Given the description of an element on the screen output the (x, y) to click on. 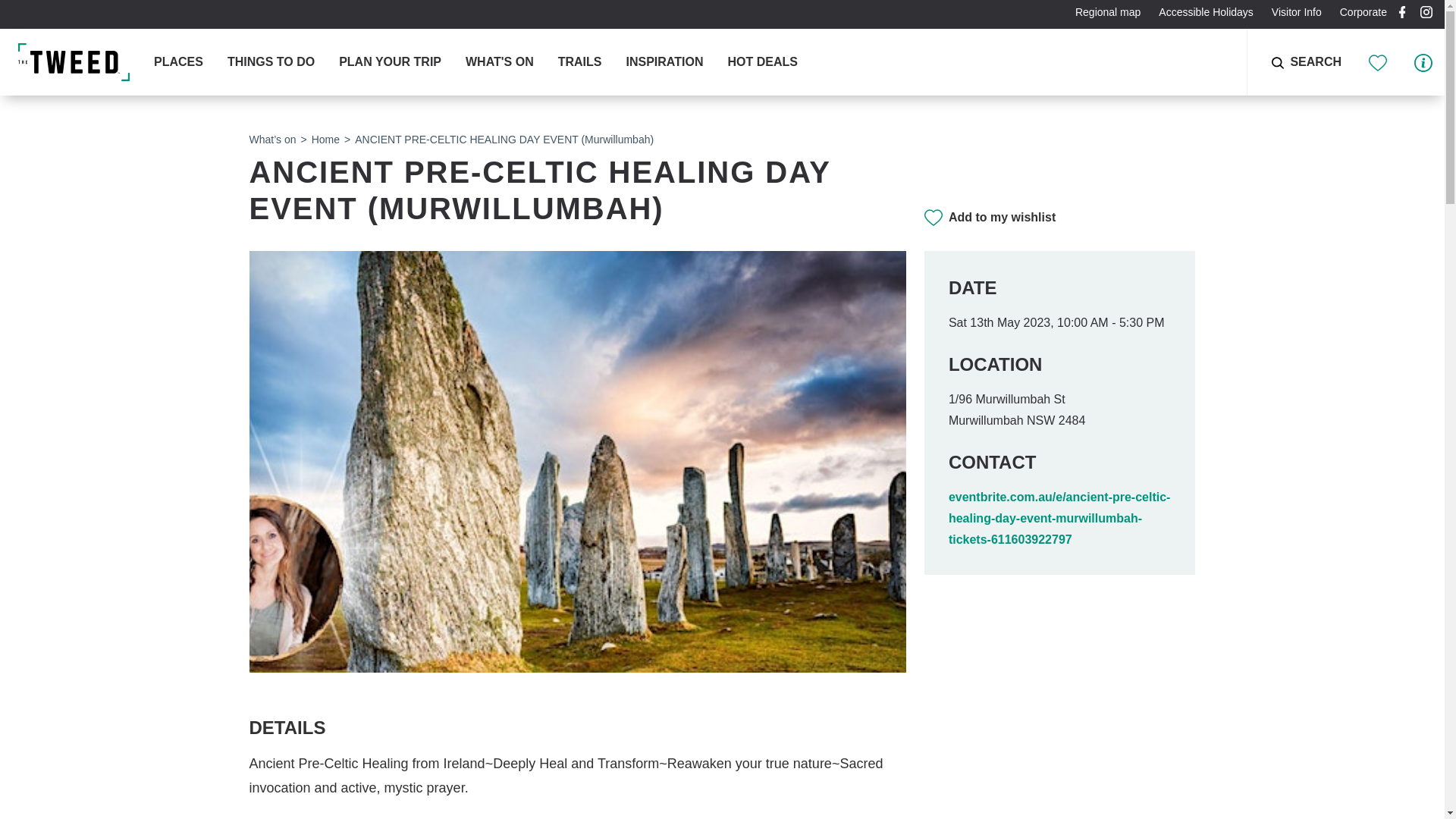
Corporate (1363, 11)
INSPIRATION (664, 61)
WHAT'S ON (499, 61)
SEARCH (1293, 61)
Visitor Info (1296, 11)
Regional map (1107, 11)
HOT DEALS (761, 61)
Accessible Holidays (1206, 11)
THINGS TO DO (270, 61)
Wishlist (1379, 61)
Visitor Info (1422, 61)
PLAN YOUR TRIP (390, 61)
